Given the description of an element on the screen output the (x, y) to click on. 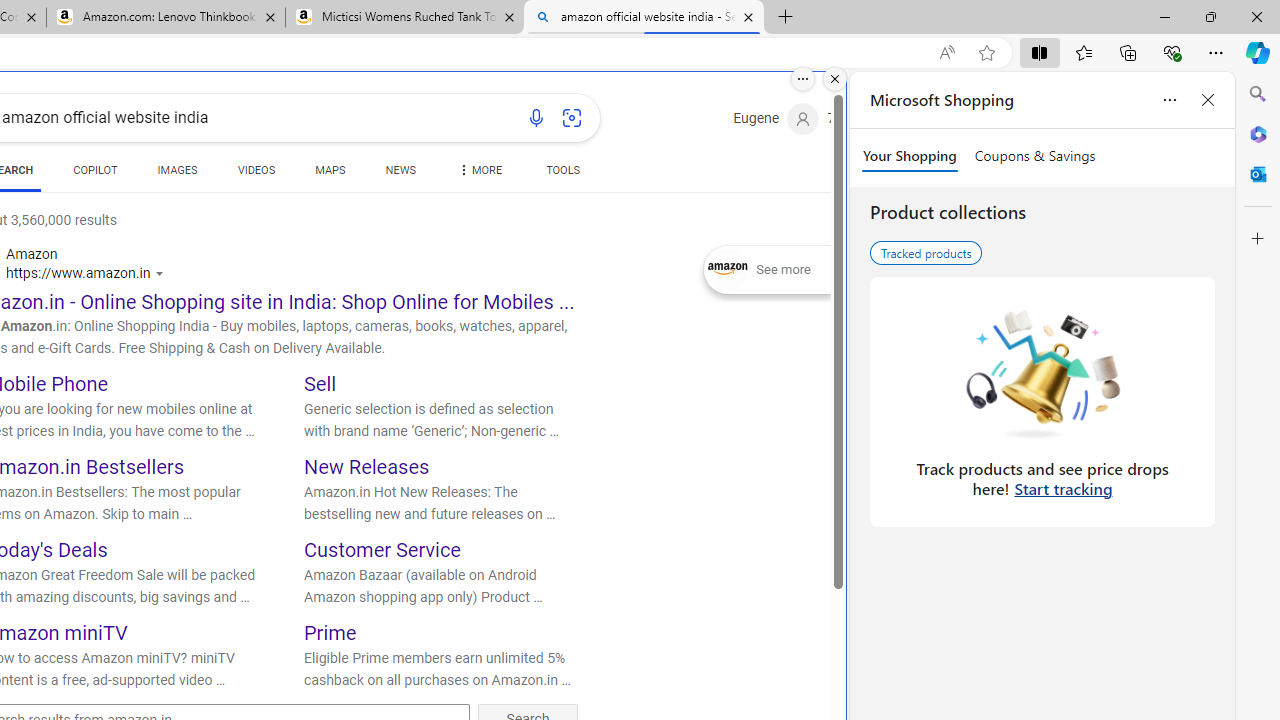
COPILOT (95, 173)
Sell (320, 384)
MAPS (330, 173)
More options. (803, 79)
Eugene (776, 119)
Expand See more (767, 269)
